Given the description of an element on the screen output the (x, y) to click on. 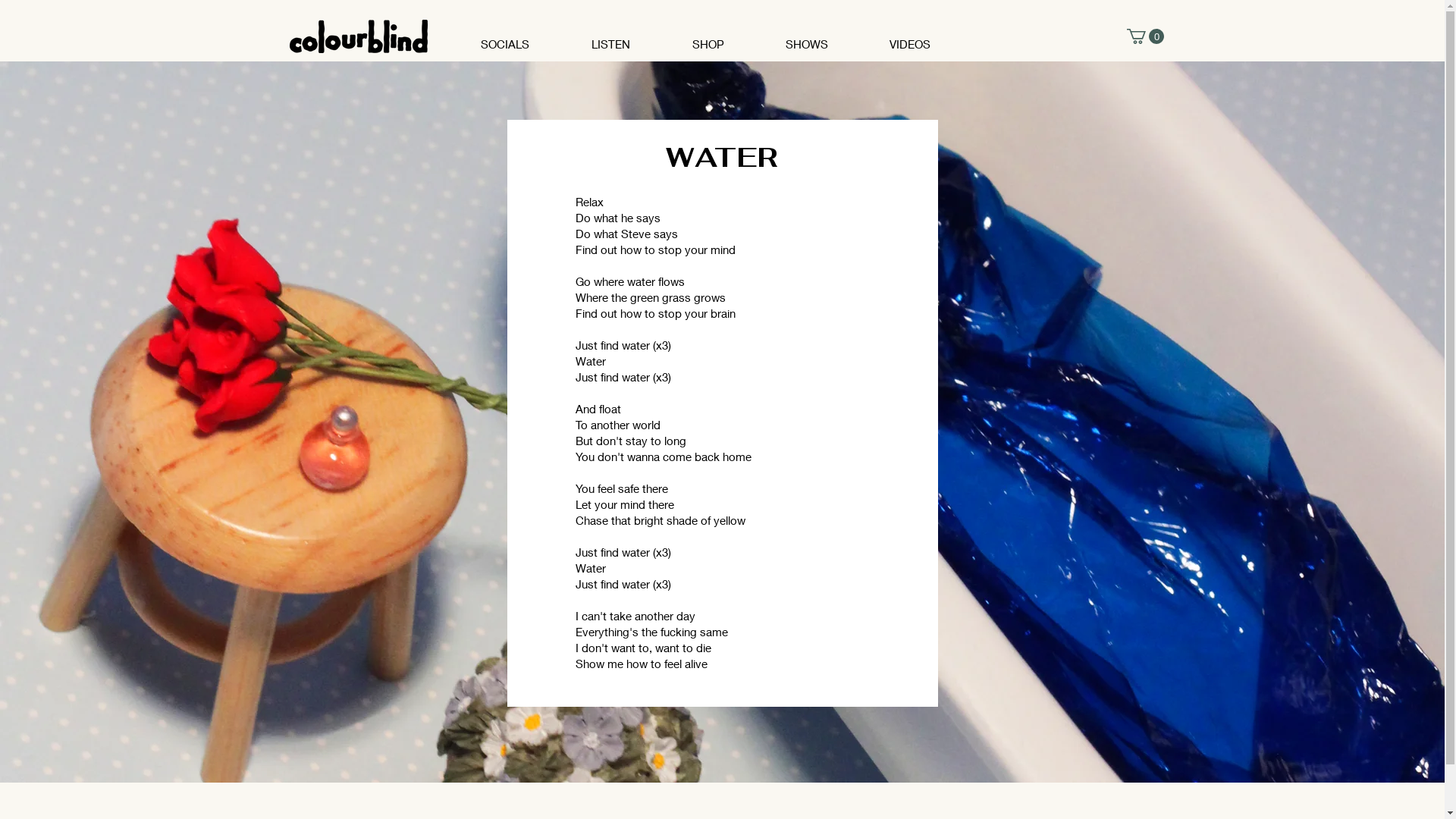
SHOP Element type: text (724, 36)
SHOWS Element type: text (823, 36)
0 Element type: text (1145, 35)
Colourblind logo variation 1 (1).png Element type: hover (358, 36)
LISTEN Element type: text (627, 36)
VIDEOS Element type: text (926, 36)
SOCIALS Element type: text (522, 36)
